Given the description of an element on the screen output the (x, y) to click on. 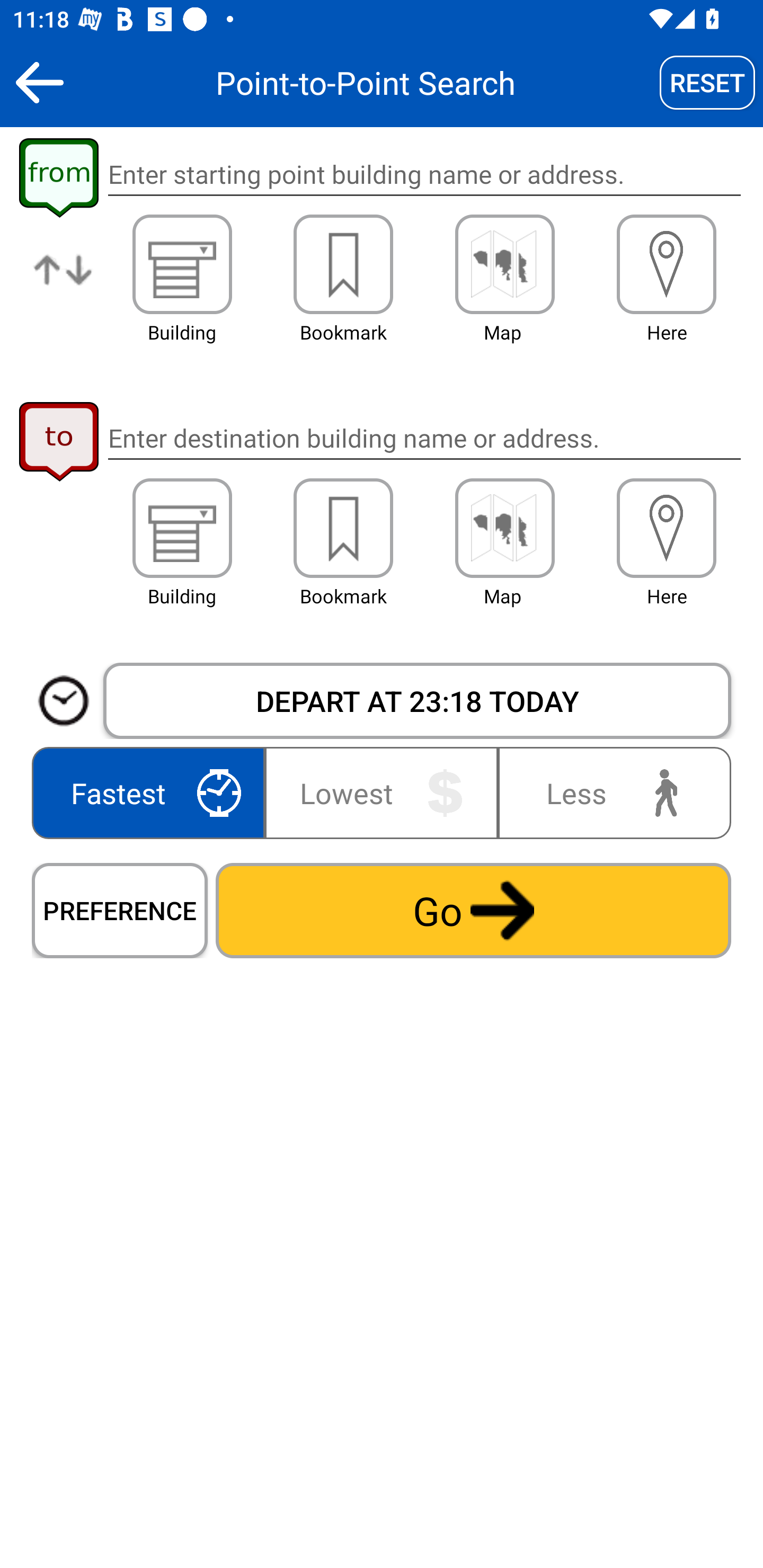
Back (39, 82)
RESET Reset (707, 81)
Enter starting point building name or address. (423, 174)
Building (181, 263)
Bookmarks (342, 263)
Select location on map (504, 263)
Here (666, 263)
Swap origin and destination (63, 284)
Enter destination building name or address. (423, 437)
Building (181, 528)
Bookmarks (342, 528)
Select location on map (504, 528)
Here (666, 528)
Lowest (381, 792)
Fastest selected (151, 792)
Less (610, 792)
PREFERENCE Preference (119, 910)
Go (472, 910)
